Given the description of an element on the screen output the (x, y) to click on. 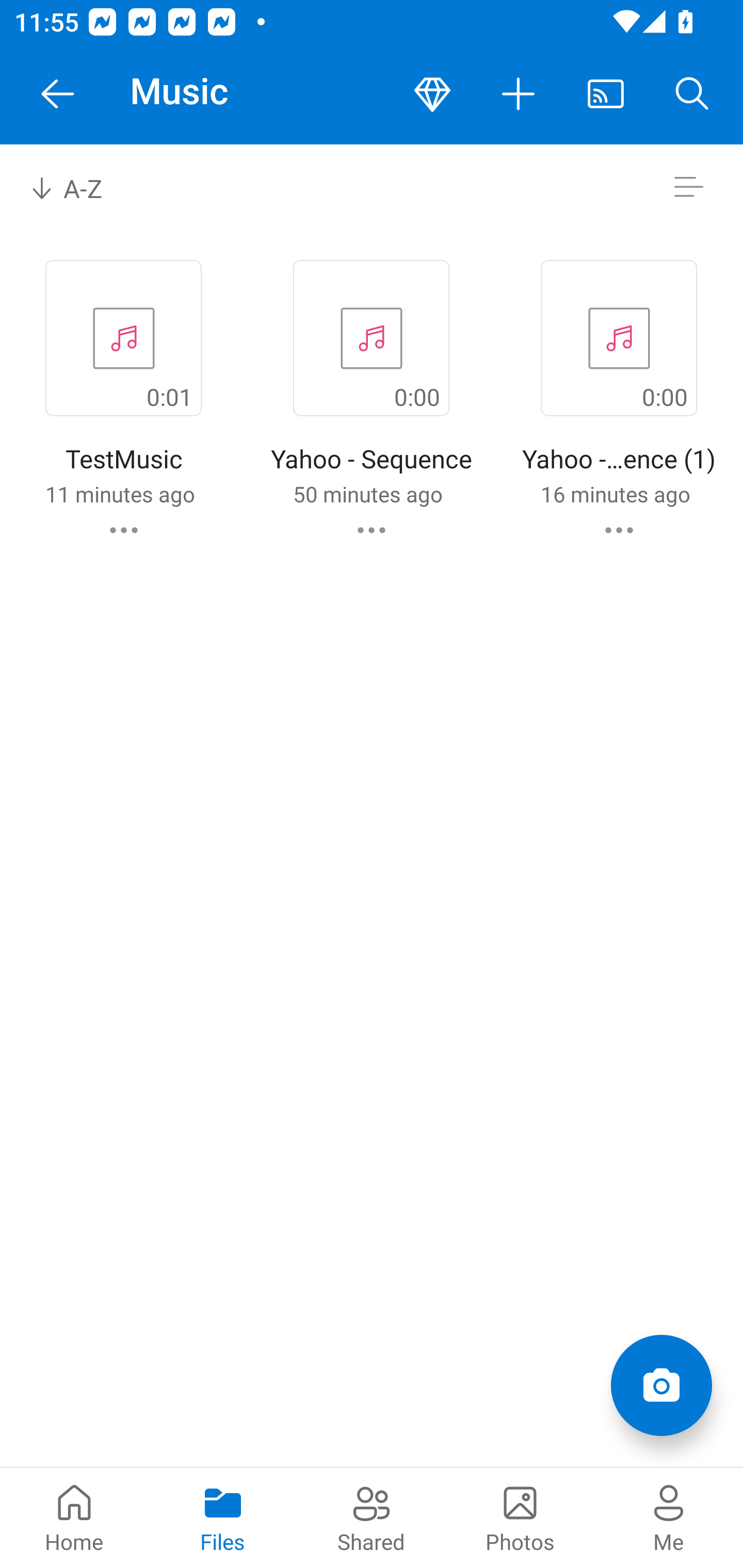
Navigate Up (57, 93)
Cast. Disconnected (605, 93)
Premium button (432, 93)
More actions button (518, 93)
Search button (692, 93)
A-Z Sort by combo box, sort by name, A to Z (80, 187)
Switch to list view (688, 187)
11 minutes ago (119, 493)
50 minutes ago (367, 493)
16 minutes ago (615, 493)
TestMusic commands (123, 529)
Yahoo - Sequence commands (371, 529)
Yahoo - Sequence (1) commands (618, 529)
Add items Scan (660, 1385)
Home pivot Home (74, 1517)
Shared pivot Shared (371, 1517)
Photos pivot Photos (519, 1517)
Me pivot Me (668, 1517)
